Given the description of an element on the screen output the (x, y) to click on. 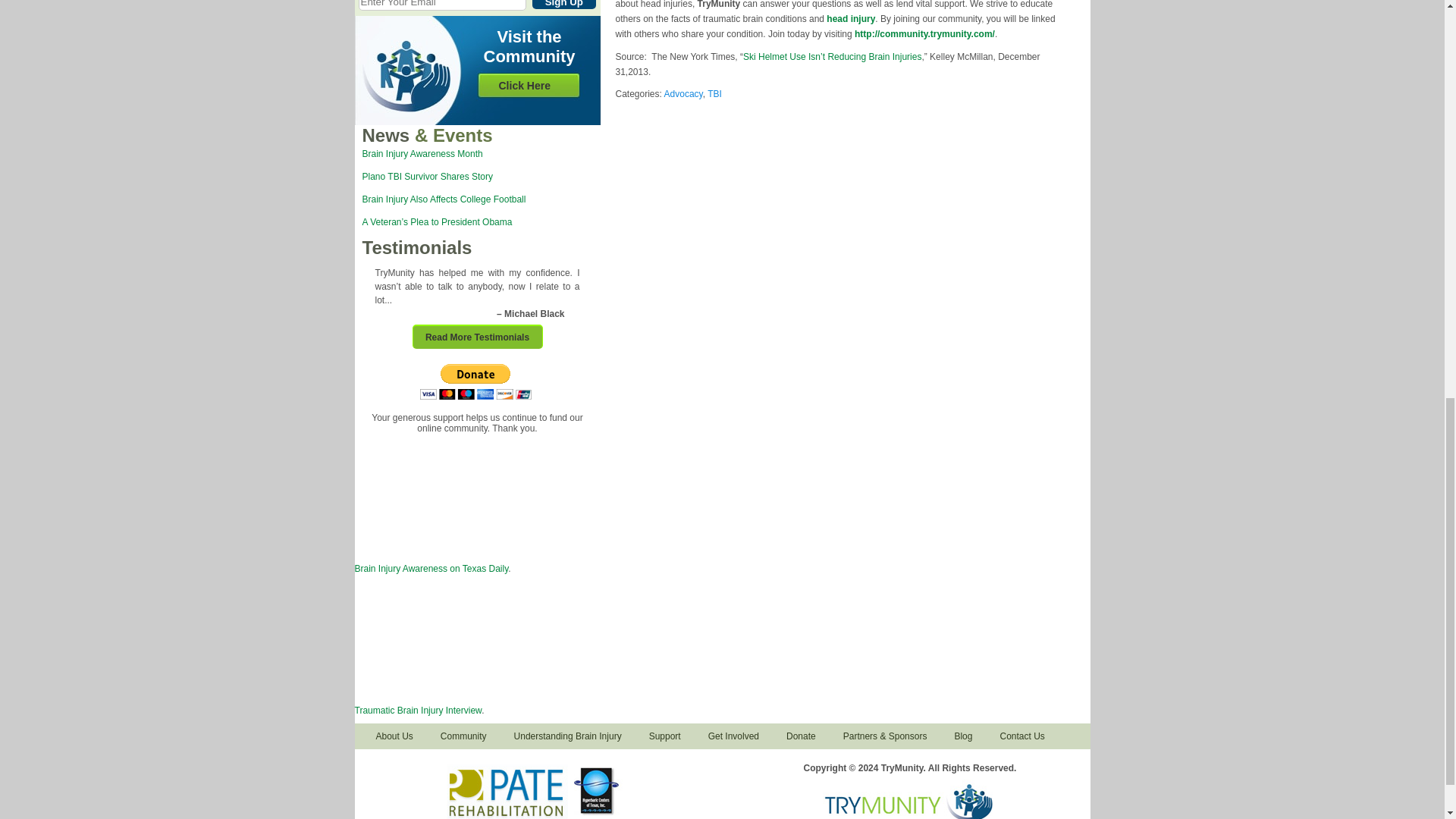
Head Injury (851, 18)
Brain Injury Awareness Month (422, 153)
Plano TBI Survivor Shares Story (427, 176)
Brain Injury Awareness Month (422, 153)
Sign Up (563, 4)
Sign Up (563, 4)
Click Here (524, 85)
Brain Injury Also Affects College Football (443, 199)
